Given the description of an element on the screen output the (x, y) to click on. 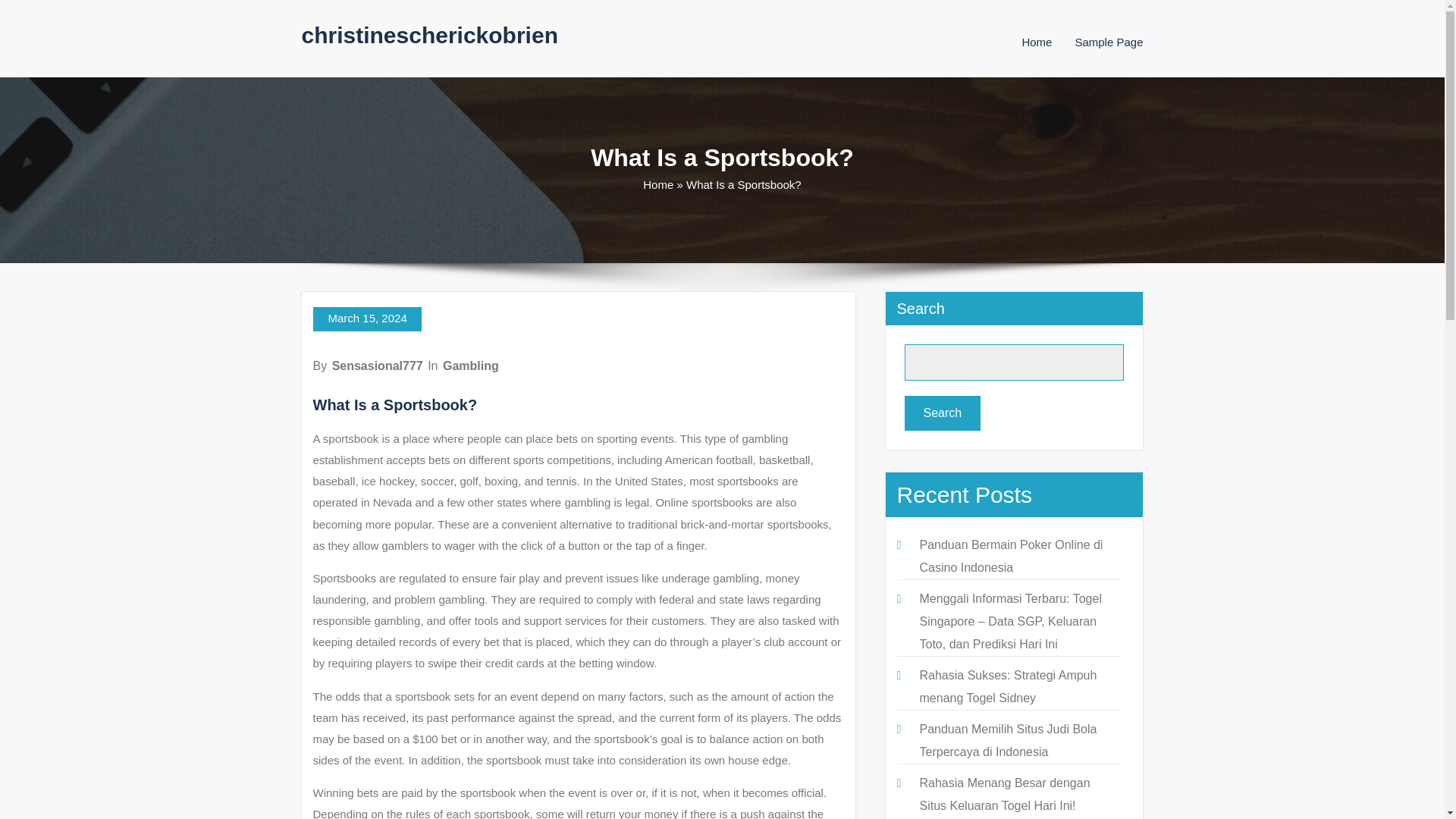
Home (1036, 41)
Rahasia Sukses: Strategi Ampuh menang Togel Sidney (1007, 686)
christinescherickobrien (429, 34)
Sample Page (1108, 41)
Rahasia Menang Besar dengan Situs Keluaran Togel Hari Ini! (1003, 794)
Search (941, 412)
Home (657, 184)
Gambling (470, 365)
Panduan Bermain Poker Online di Casino Indonesia (1010, 556)
Home (1036, 41)
Sensasional777 (377, 365)
March 15, 2024 (366, 319)
Panduan Memilih Situs Judi Bola Terpercaya di Indonesia (1007, 740)
